Given the description of an element on the screen output the (x, y) to click on. 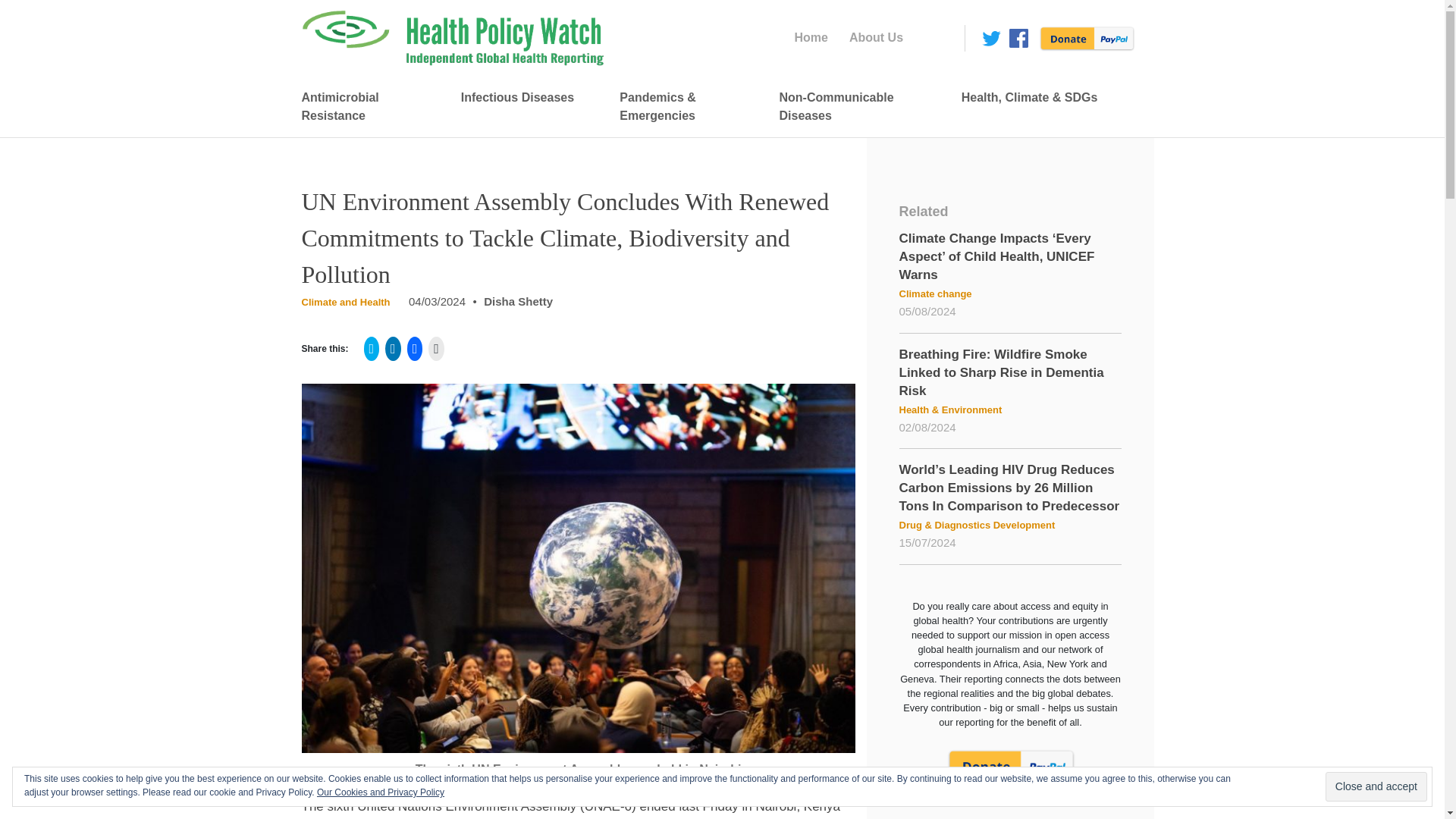
Non-Communicable Diseases (854, 106)
Click to share on LinkedIn (393, 348)
Click to print (436, 348)
Non-Communicable Diseases (854, 106)
Home (815, 37)
Antimicrobial Resistance (365, 106)
Search (25, 11)
Infectious Diseases (525, 97)
About Us (880, 37)
Posts by Disha Shetty (518, 300)
About Us (880, 37)
Click to share on Facebook (415, 348)
Disha Shetty (518, 300)
Close and accept (1375, 786)
Click to share on Twitter (372, 348)
